Given the description of an element on the screen output the (x, y) to click on. 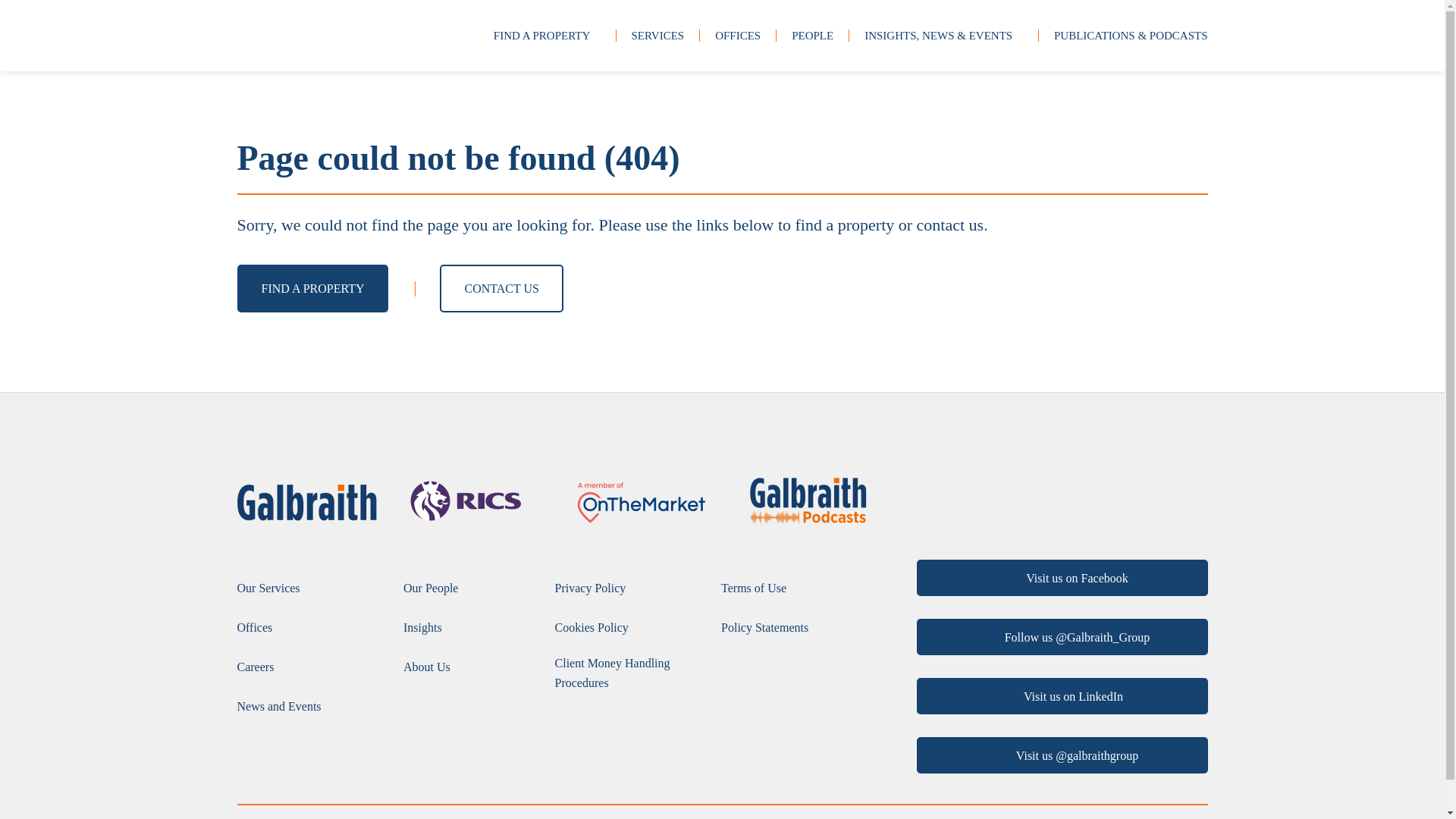
Client Money Handling Procedures (630, 672)
FIND A PROPERTY (311, 288)
News and Events (277, 706)
Policy Statements (764, 628)
MENU ARROW (1018, 35)
Careers (254, 667)
Privacy Policy (590, 588)
MENU ARROW (595, 35)
Visit us on LinkedIn (1061, 696)
Terms of Use (753, 588)
Our People (430, 588)
Our Services (267, 588)
OFFICES (737, 35)
Insights (422, 628)
SERVICES (657, 35)
